Given the description of an element on the screen output the (x, y) to click on. 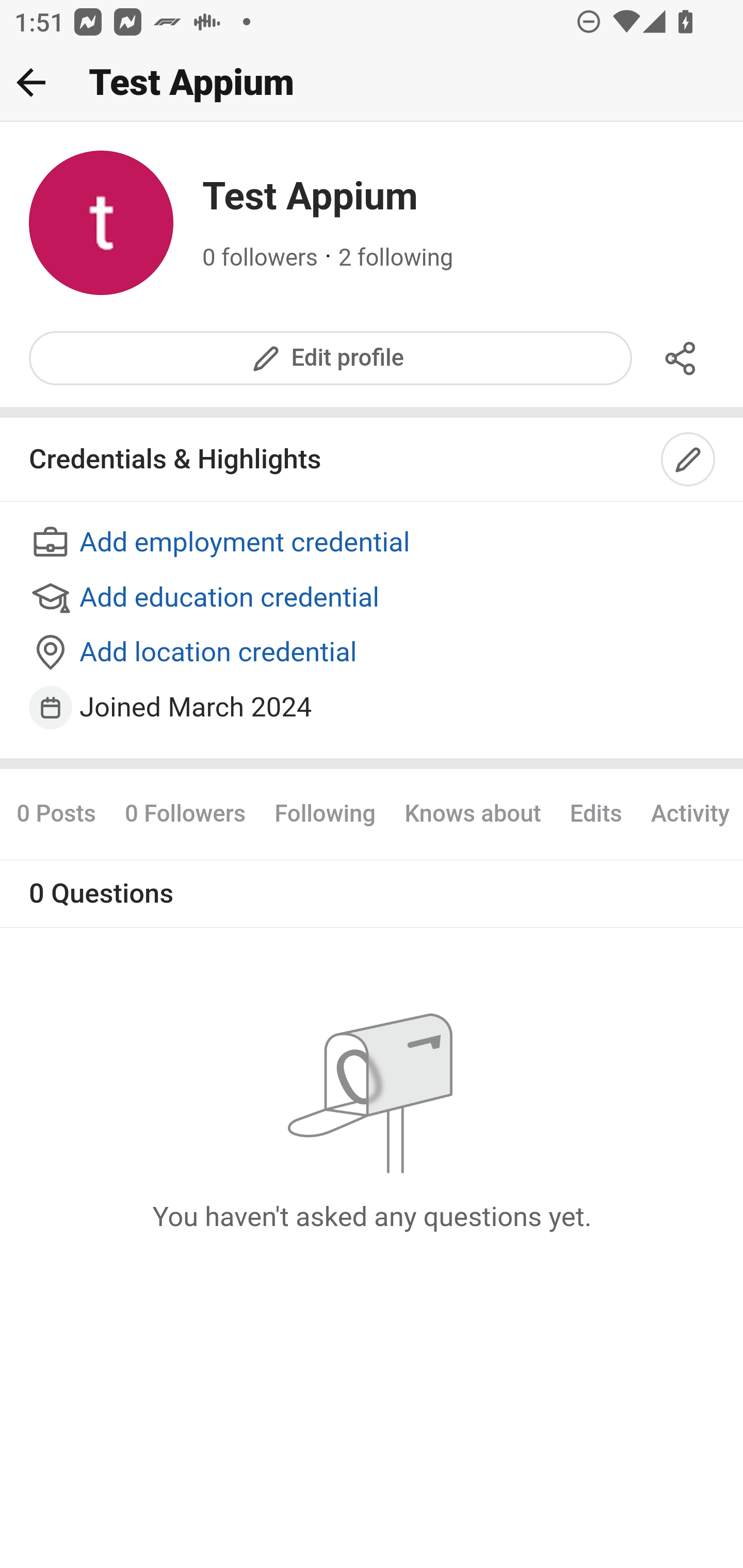
Back (30, 82)
0 followers (260, 257)
2 following (395, 257)
Share (681, 358)
Edit profile (330, 357)
Edit credentials (688, 459)
Add employment credential (372, 543)
Add education credential (372, 598)
Add location credential (372, 653)
0 Posts (63, 813)
0 Followers (184, 813)
Following (325, 813)
Knows about (473, 813)
Edits (595, 813)
Activity (689, 813)
